Given the description of an element on the screen output the (x, y) to click on. 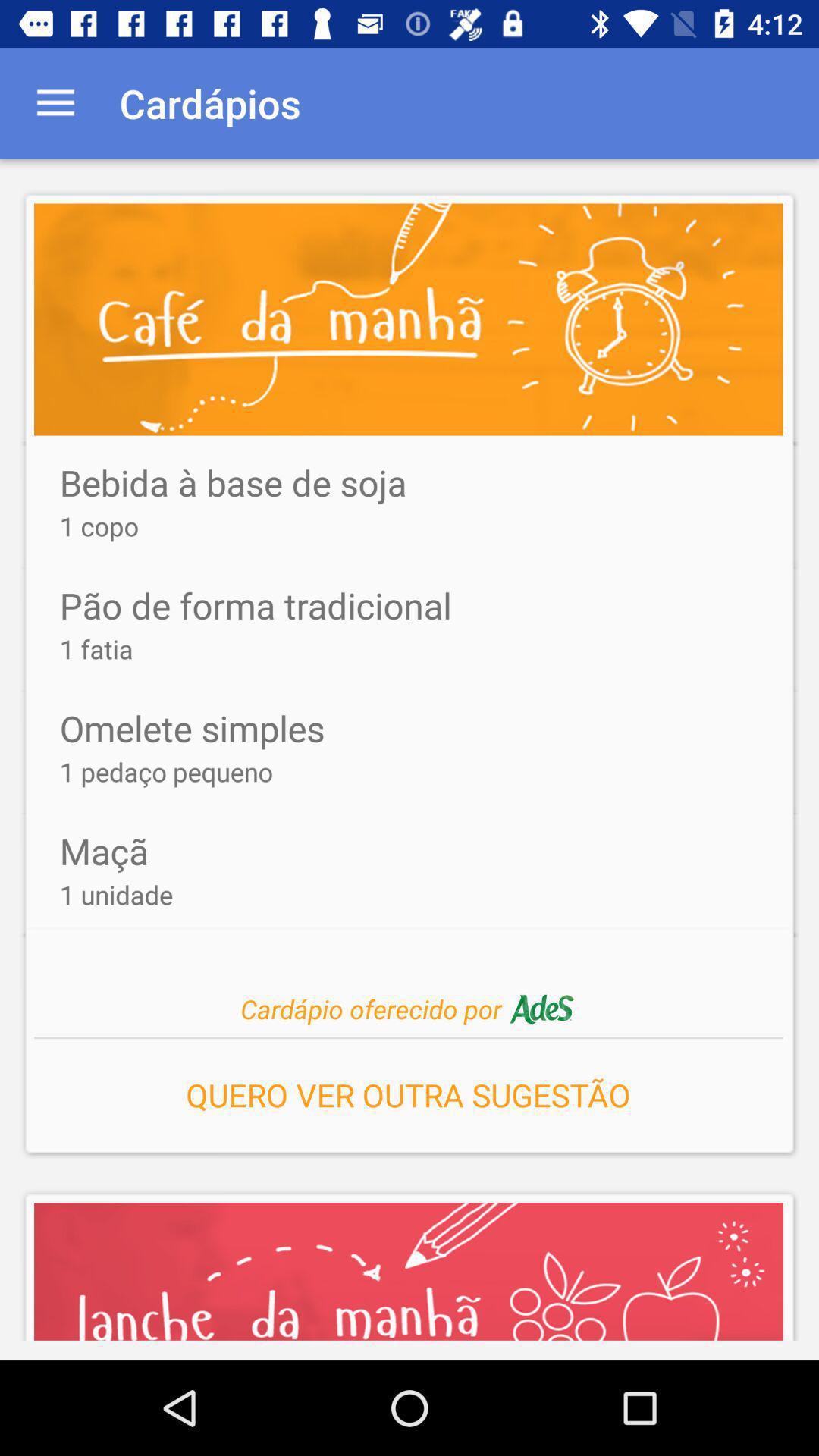
click on the image (408, 319)
select the image on the bottom line of the web page (408, 1280)
